Given the description of an element on the screen output the (x, y) to click on. 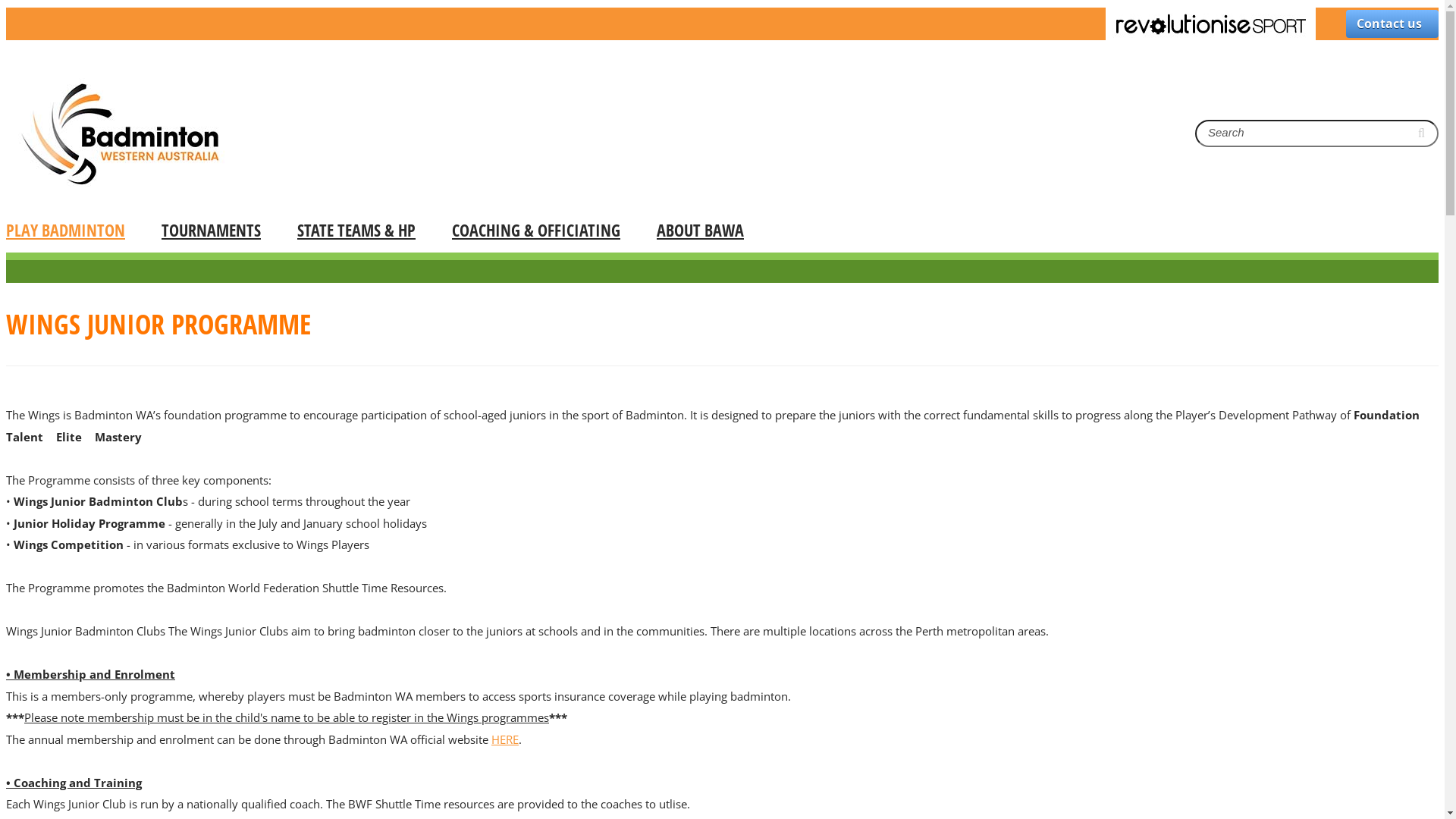
ABOUT BAWA Element type: text (690, 229)
HERE Element type: text (504, 738)
PLAY BADMINTON Element type: text (74, 229)
Contact us Element type: text (1392, 23)
COACHING & OFFICIATING Element type: text (535, 229)
STATE TEAMS & HP Element type: text (356, 229)
TOURNAMENTS Element type: text (211, 229)
